Given the description of an element on the screen output the (x, y) to click on. 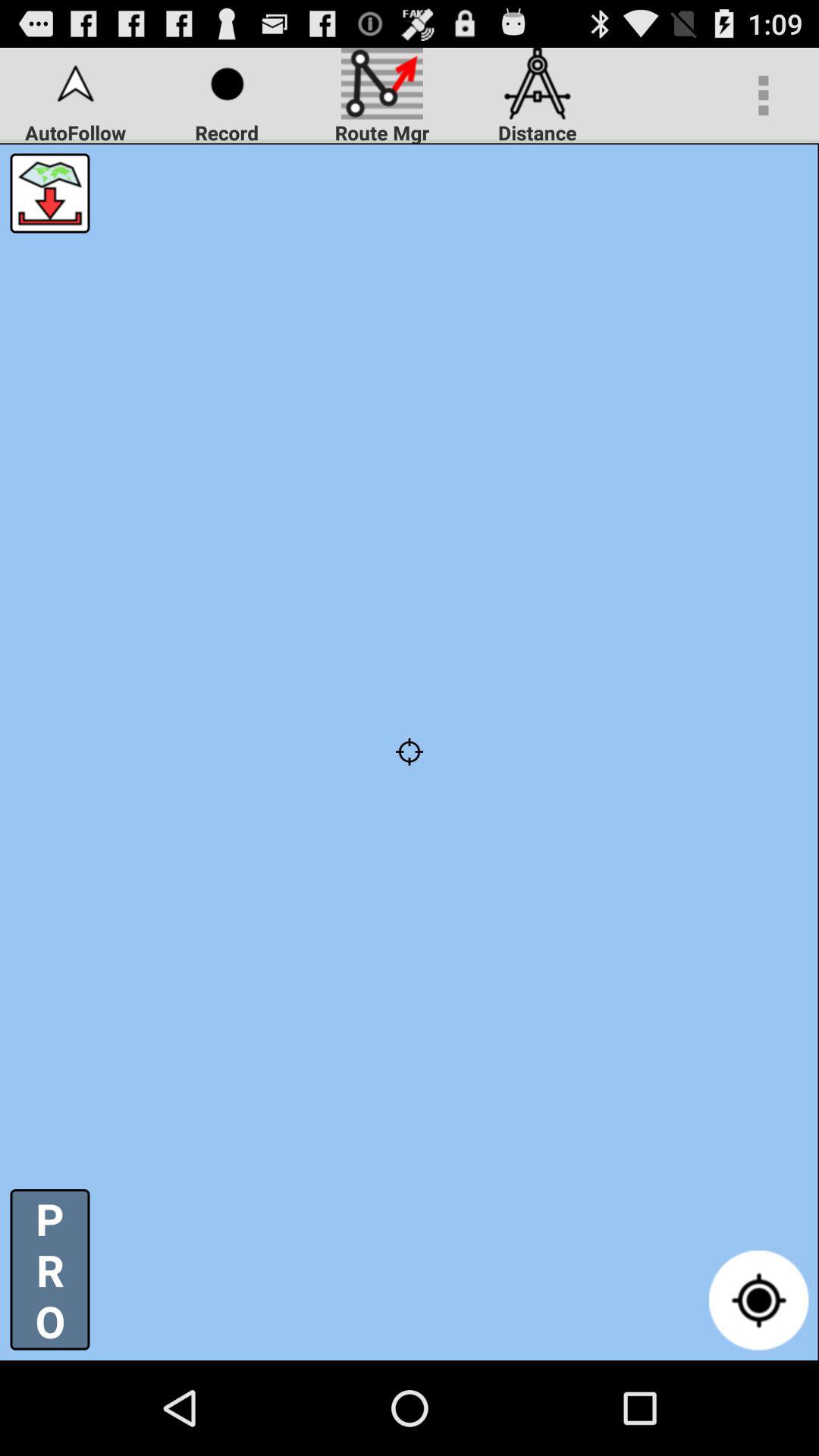
open item at the bottom left corner (49, 1269)
